Given the description of an element on the screen output the (x, y) to click on. 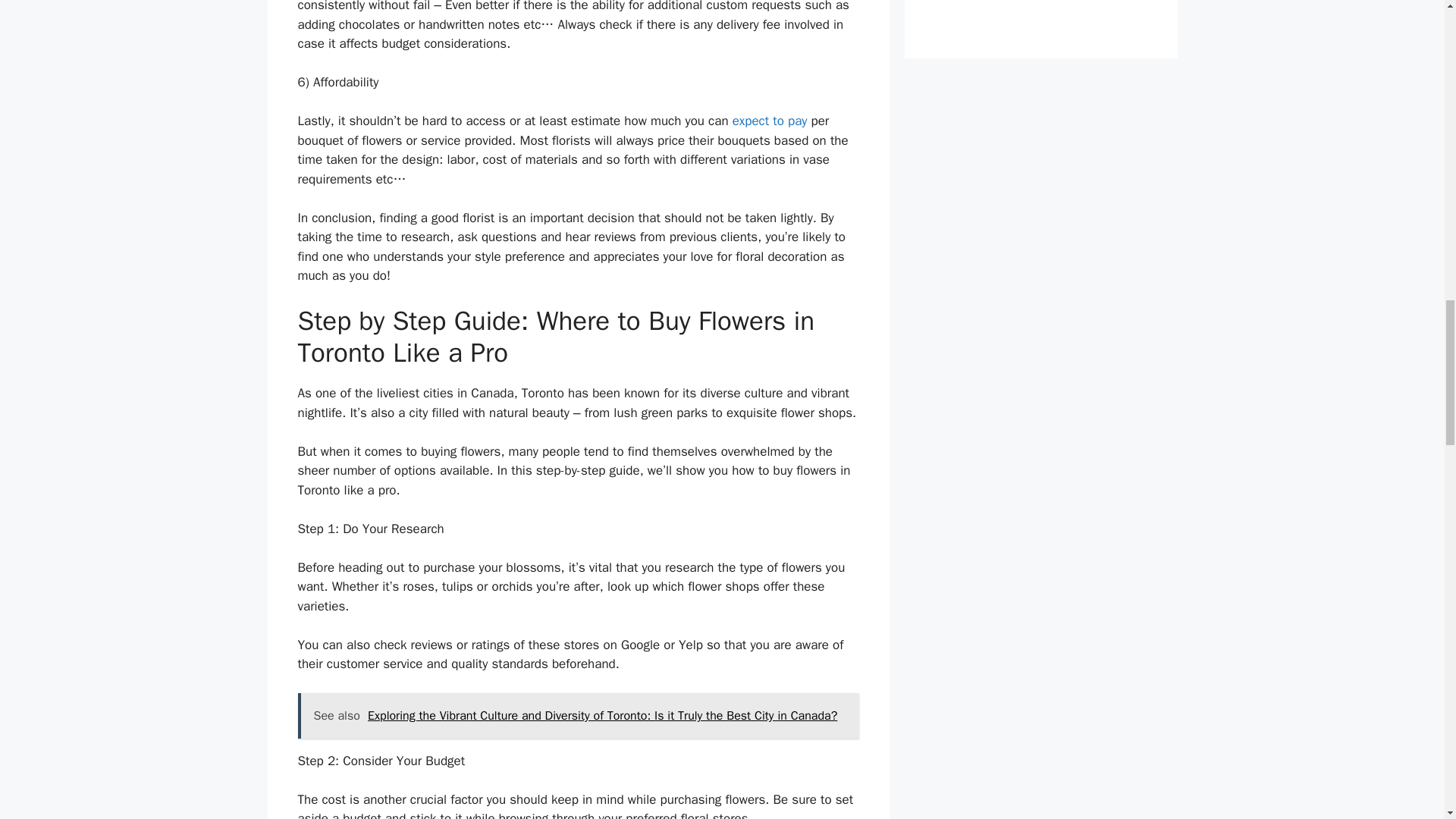
expect to pay (770, 120)
